Given the description of an element on the screen output the (x, y) to click on. 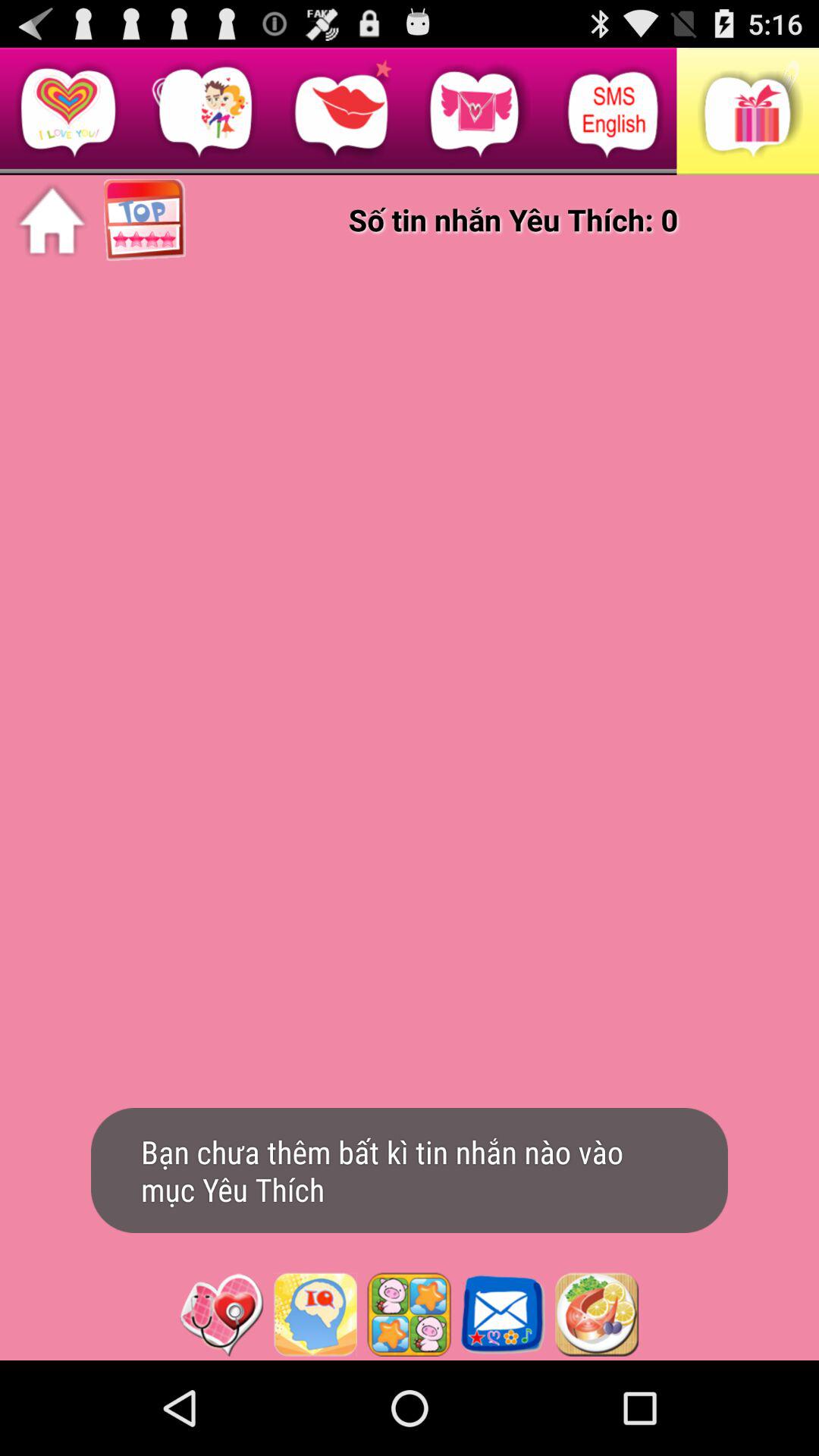
go to main menu (51, 220)
